Given the description of an element on the screen output the (x, y) to click on. 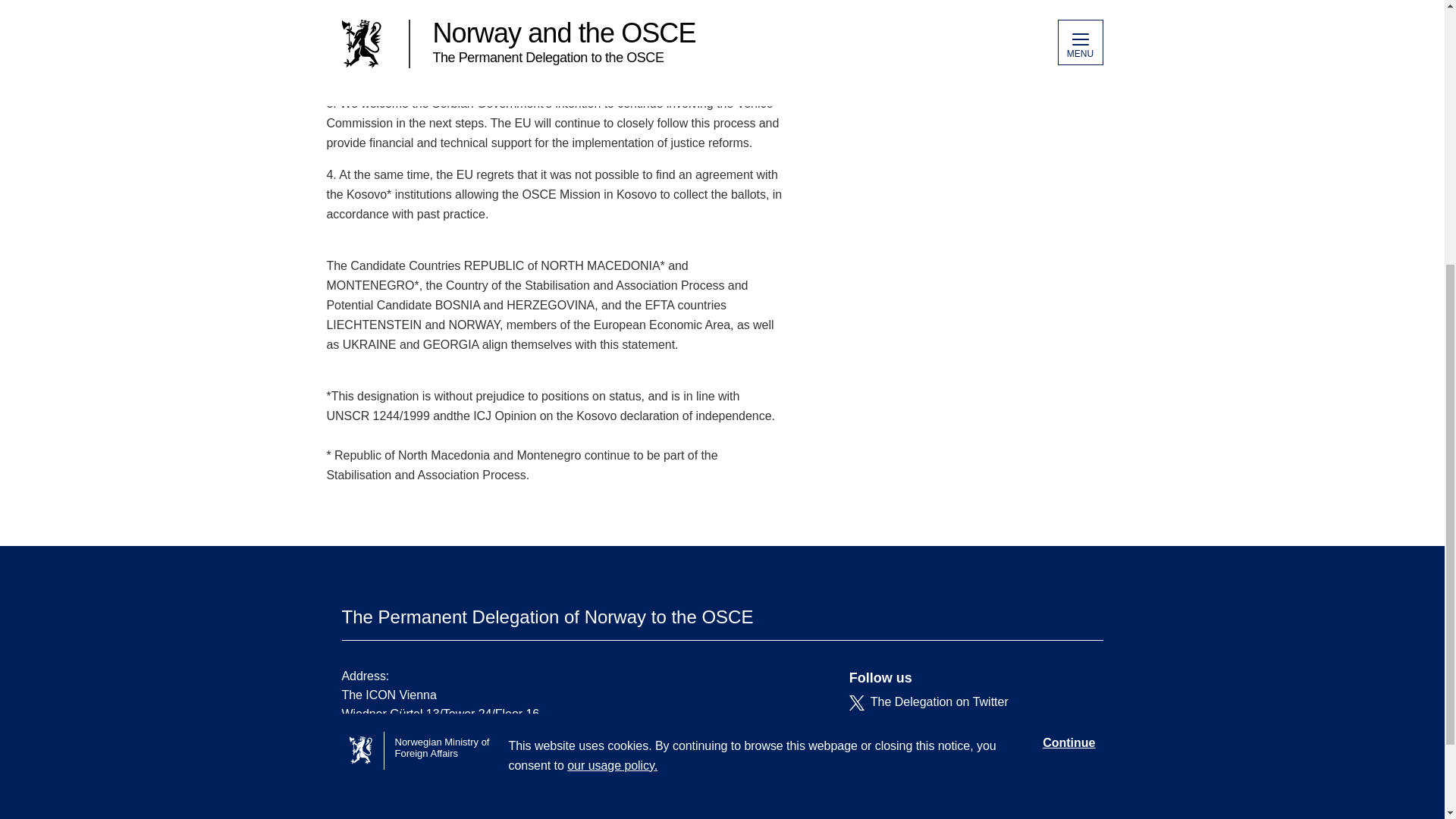
The Ambassador on Twitter (964, 721)
our usage policy. (612, 332)
The Delegation on Instagram (964, 741)
The Delegation on Twitter (964, 702)
Continue (1068, 309)
